Given the description of an element on the screen output the (x, y) to click on. 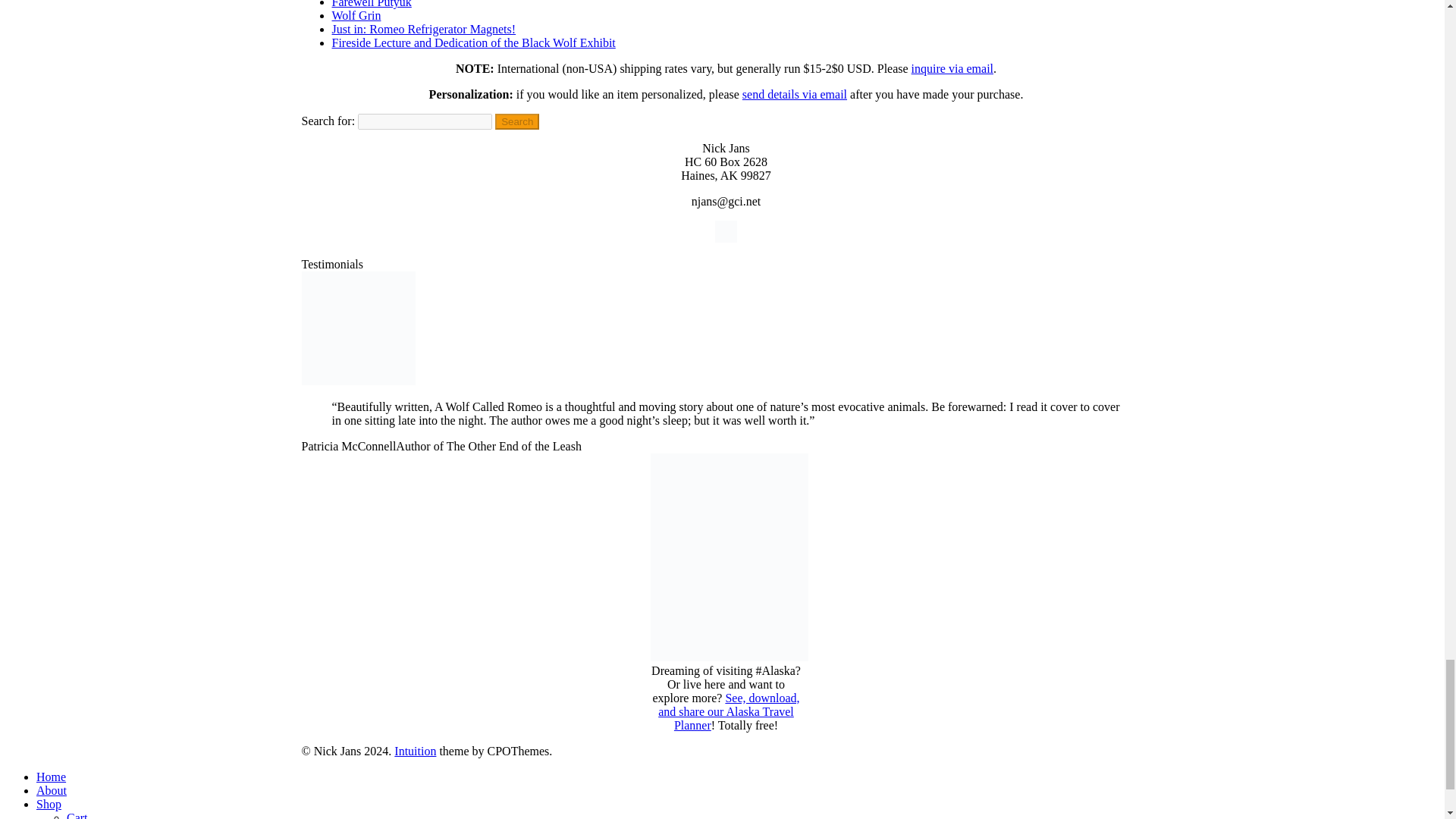
Search (516, 121)
Fireside Lecture and Dedication of the Black Wolf Exhibit (473, 42)
Just in: Romeo Refrigerator Magnets! (423, 29)
Search (516, 121)
Farewell Putyuk (371, 4)
send details via email (794, 93)
Complete testimonial by Patricia McConnell (357, 380)
Wolf Grin (356, 15)
inquire via email (951, 68)
